Given the description of an element on the screen output the (x, y) to click on. 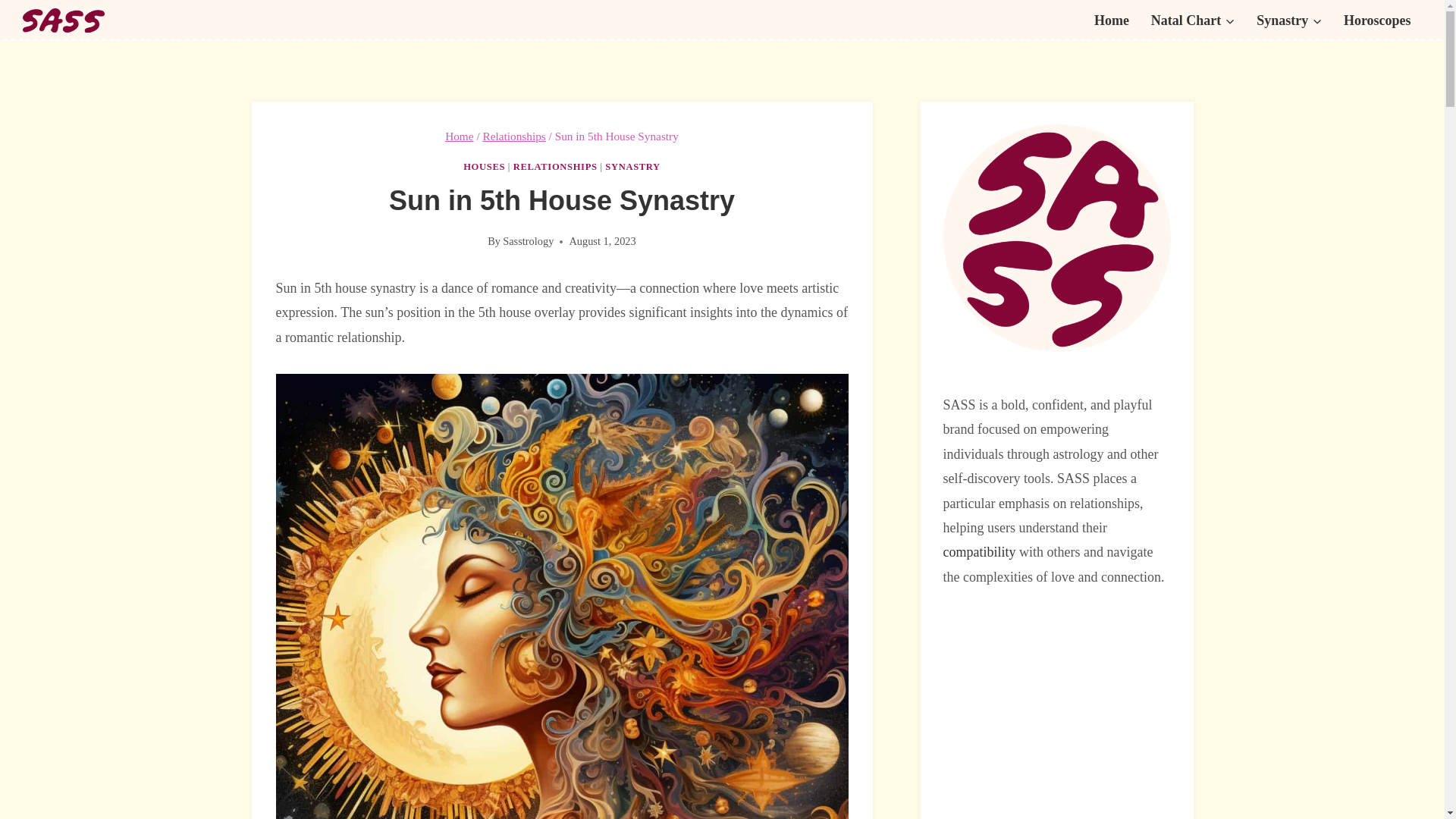
HOUSES (484, 166)
Home (459, 135)
SYNASTRY (632, 166)
Relationships (512, 135)
Sasstrology (527, 241)
Horoscopes (1377, 20)
Home (1111, 20)
Natal Chart (1192, 20)
Synastry (1289, 20)
RELATIONSHIPS (554, 166)
